Given the description of an element on the screen output the (x, y) to click on. 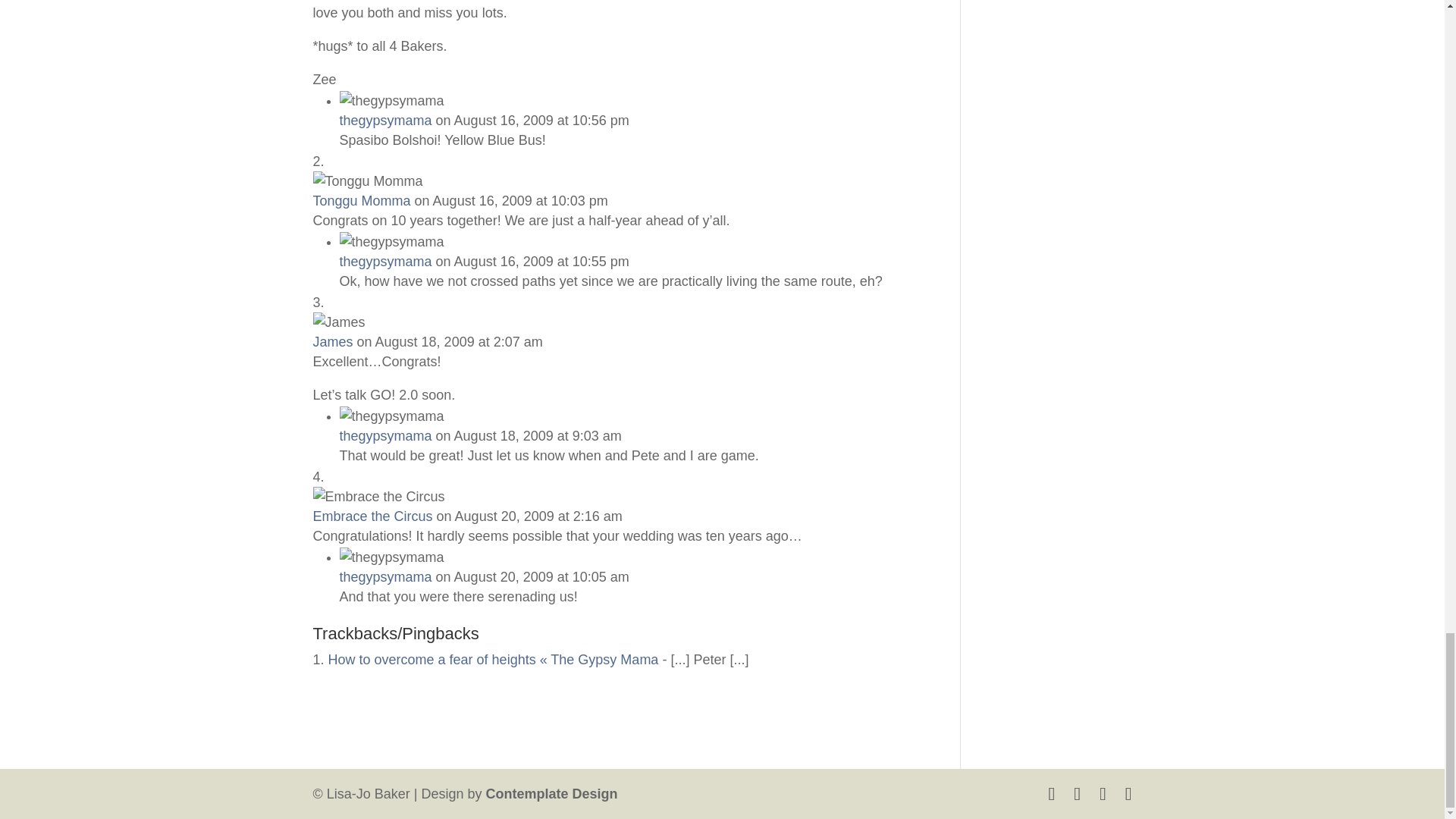
Embrace the Circus (372, 516)
thegypsymama (385, 120)
James (332, 341)
thegypsymama (385, 576)
thegypsymama (385, 261)
Tonggu Momma (361, 200)
thegypsymama (385, 435)
